Given the description of an element on the screen output the (x, y) to click on. 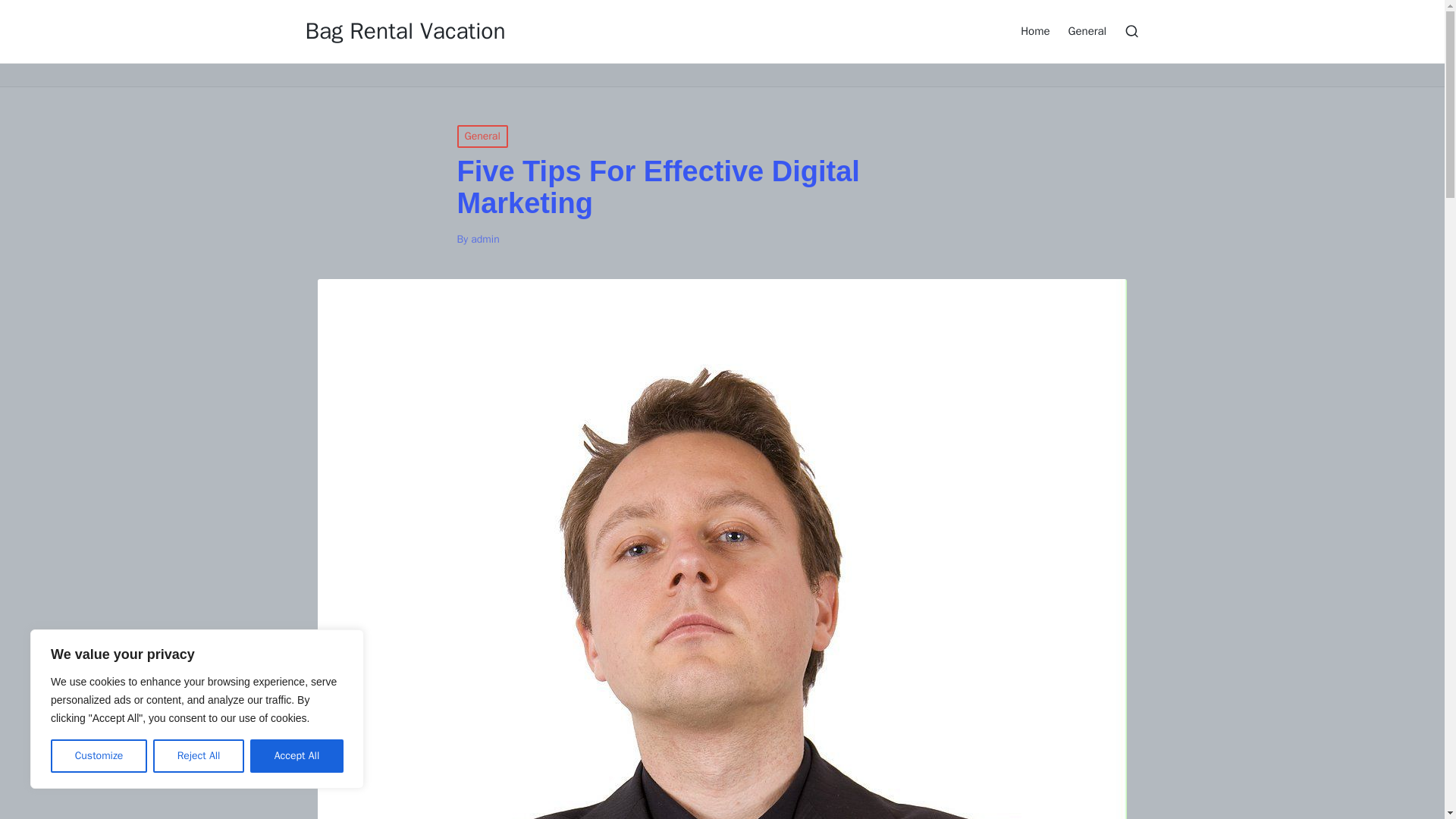
View all posts by  (484, 238)
Customize (98, 756)
General (1087, 30)
admin (484, 238)
Bag Rental Vacation (404, 31)
Accept All (296, 756)
Reject All (198, 756)
General (481, 136)
Home (1034, 30)
